Given the description of an element on the screen output the (x, y) to click on. 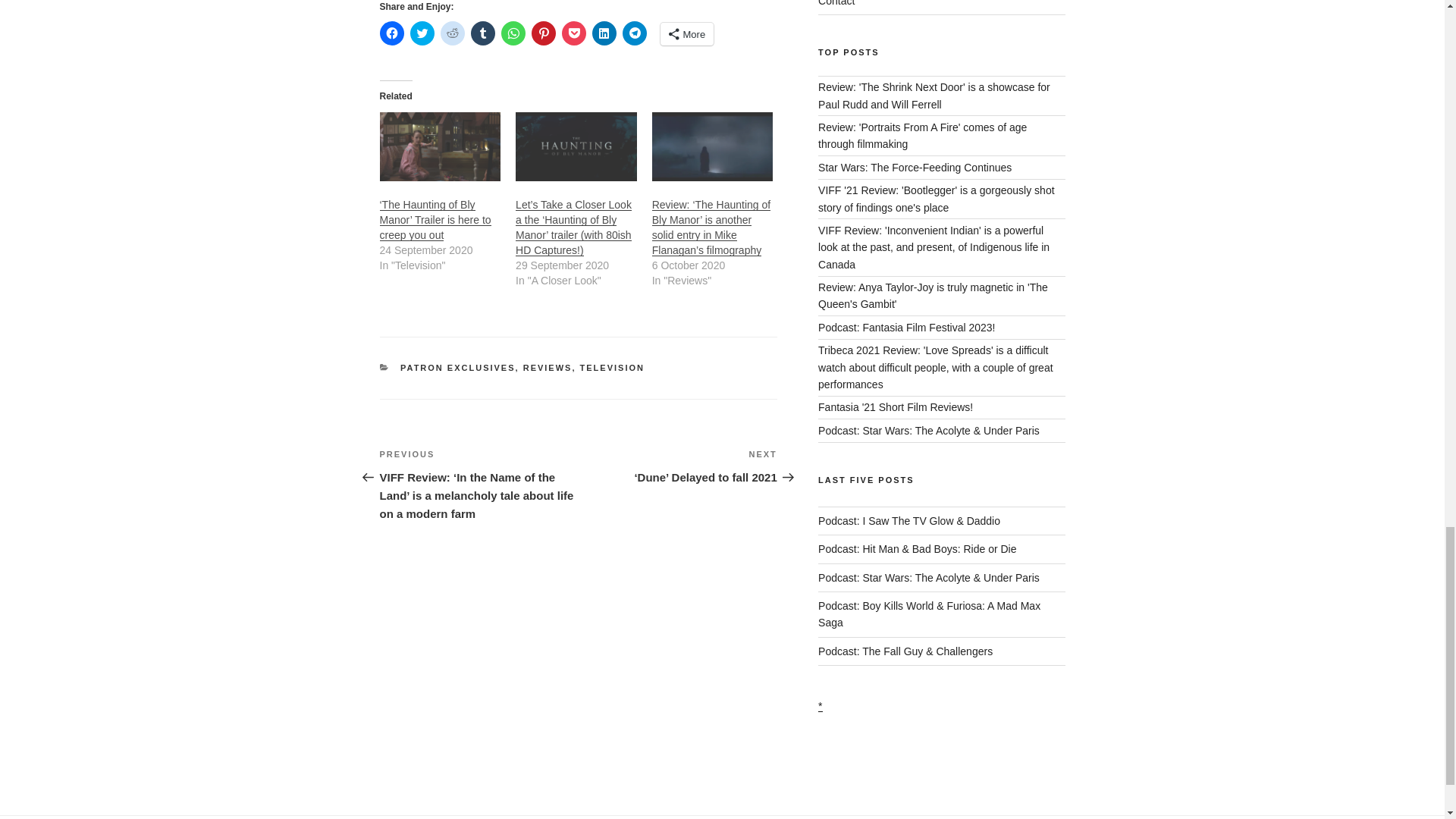
PATRON EXCLUSIVES (457, 367)
Click to share on Twitter (421, 33)
More (686, 33)
REVIEWS (547, 367)
Click to share on Reddit (451, 33)
Click to share on Pocket (572, 33)
Click to share on Facebook (390, 33)
Click to share on Pinterest (542, 33)
Click to share on WhatsApp (512, 33)
TELEVISION (612, 367)
Click to share on LinkedIn (603, 33)
Click to share on Telegram (633, 33)
Click to share on Tumblr (482, 33)
